Given the description of an element on the screen output the (x, y) to click on. 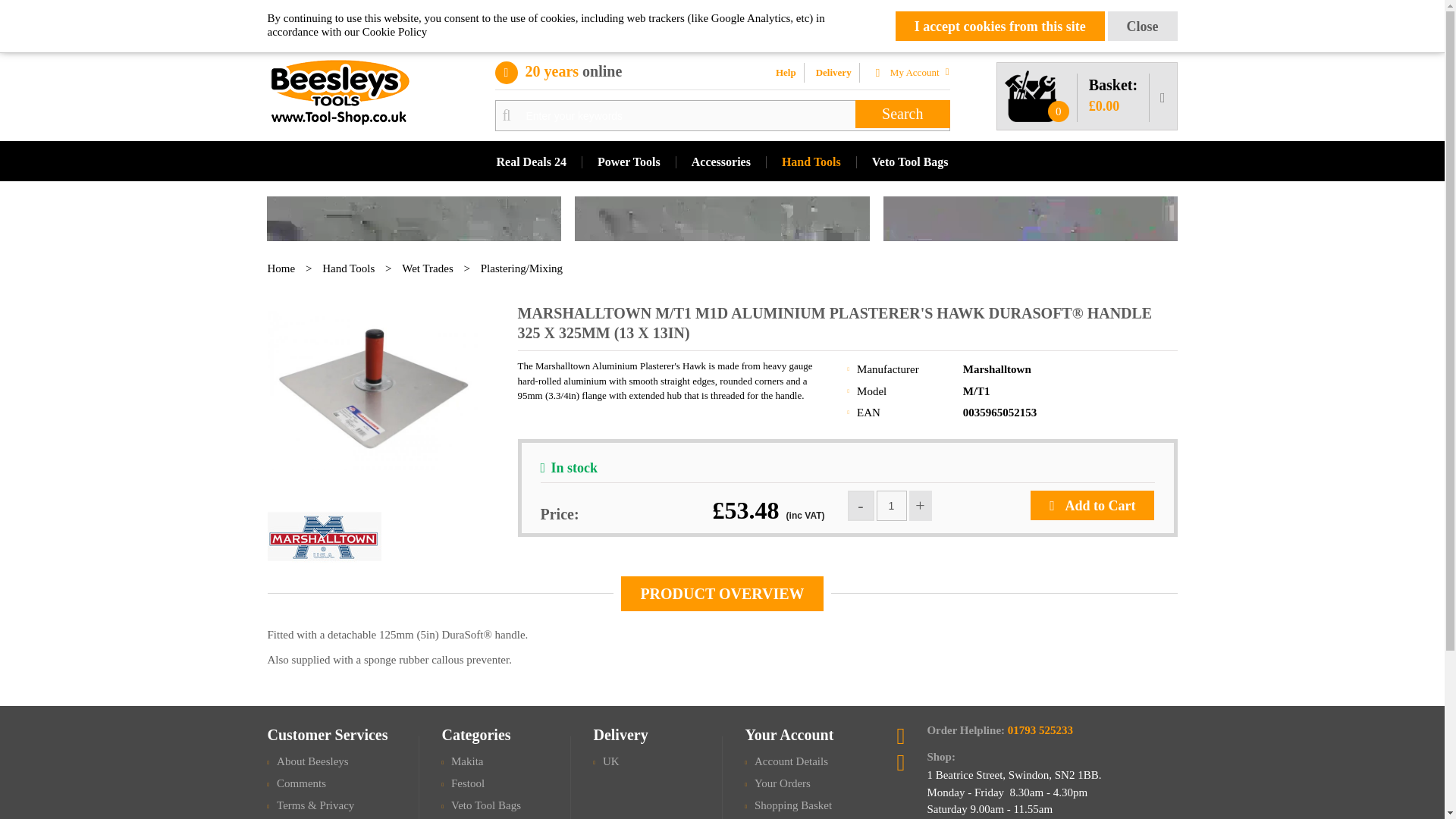
Marshalltown (996, 369)
Real Deals 24 (530, 162)
1 (891, 505)
My Account (912, 71)
Power Tools (627, 162)
Help (787, 72)
Delivery (835, 72)
